Given the description of an element on the screen output the (x, y) to click on. 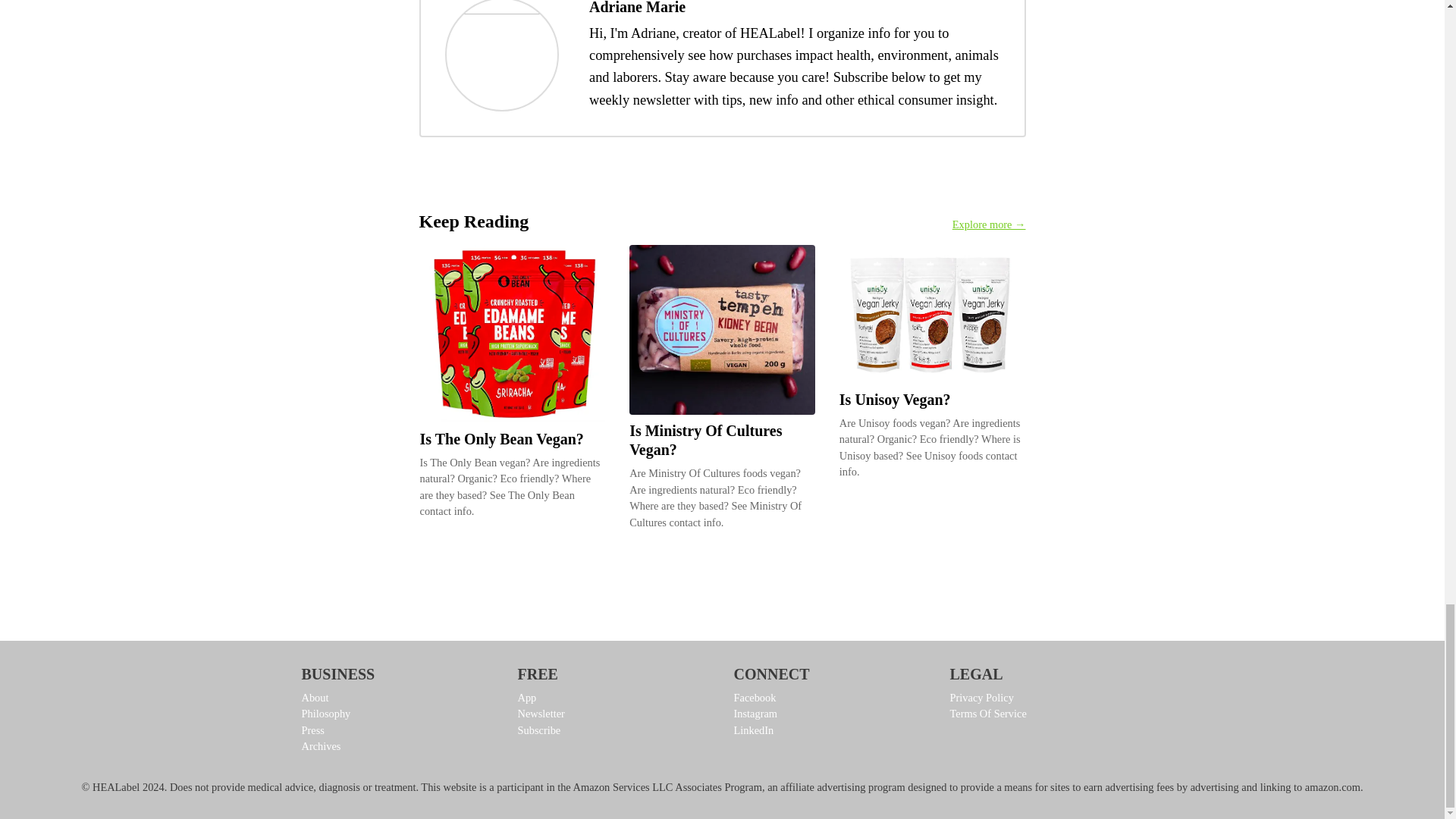
Facebook (830, 698)
Philosophy (398, 713)
Subscribe (613, 730)
Press (398, 730)
Archives (398, 746)
About (398, 698)
Instagram (830, 713)
App (613, 698)
Privacy Policy (1045, 698)
Terms Of Service (1045, 713)
